Given the description of an element on the screen output the (x, y) to click on. 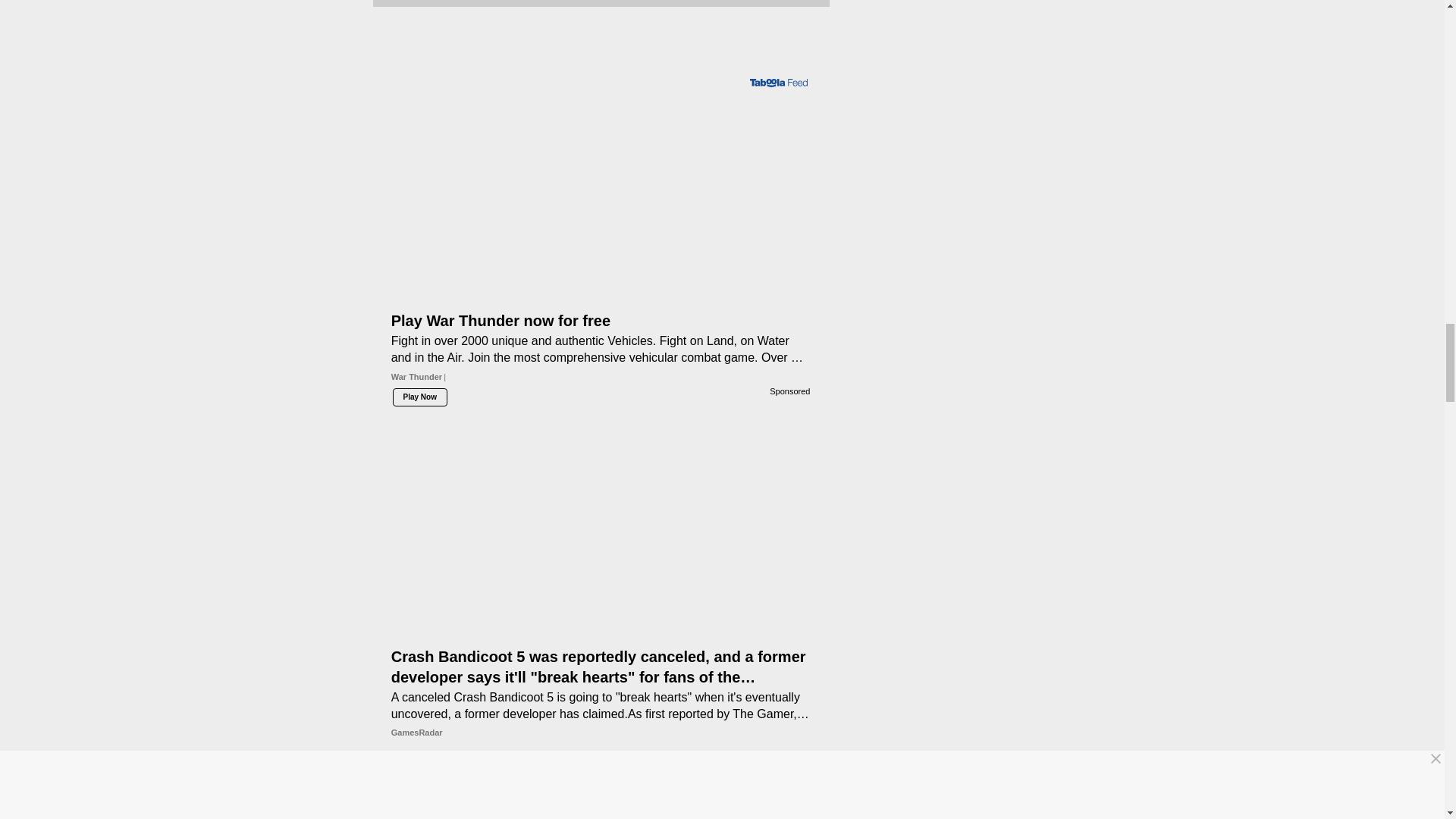
Play War Thunder now for free (600, 323)
If you own a mouse, play it for 1 minute. (600, 780)
Play War Thunder now for free (600, 172)
